Given the description of an element on the screen output the (x, y) to click on. 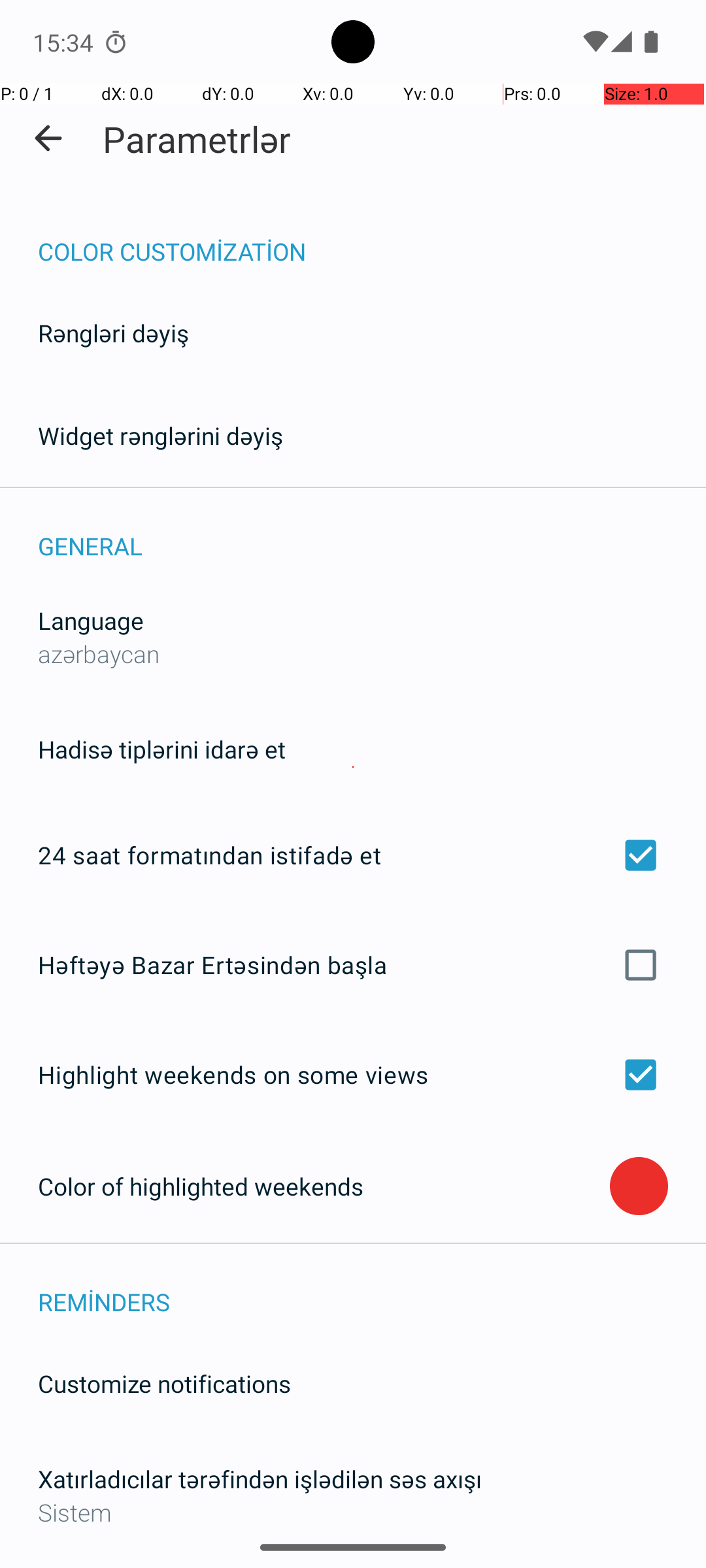
COLOR CUSTOMİZATİON Element type: android.widget.TextView (371, 237)
REMİNDERS Element type: android.widget.TextView (371, 1287)
Rəngləri dəyiş Element type: android.widget.TextView (112, 332)
Widget rənglərini dəyiş Element type: android.widget.TextView (160, 435)
azərbaycan Element type: android.widget.TextView (98, 653)
Hadisə tiplərini idarə et Element type: android.widget.TextView (161, 748)
24 saat formatından istifadə et Element type: android.widget.CheckBox (352, 855)
Həftəyə Bazar Ertəsindən başla Element type: android.widget.CheckBox (352, 964)
Xatırladıcılar tərəfindən işlədilən səs axışı Element type: android.widget.TextView (259, 1478)
Sistem Element type: android.widget.TextView (352, 1511)
